Given the description of an element on the screen output the (x, y) to click on. 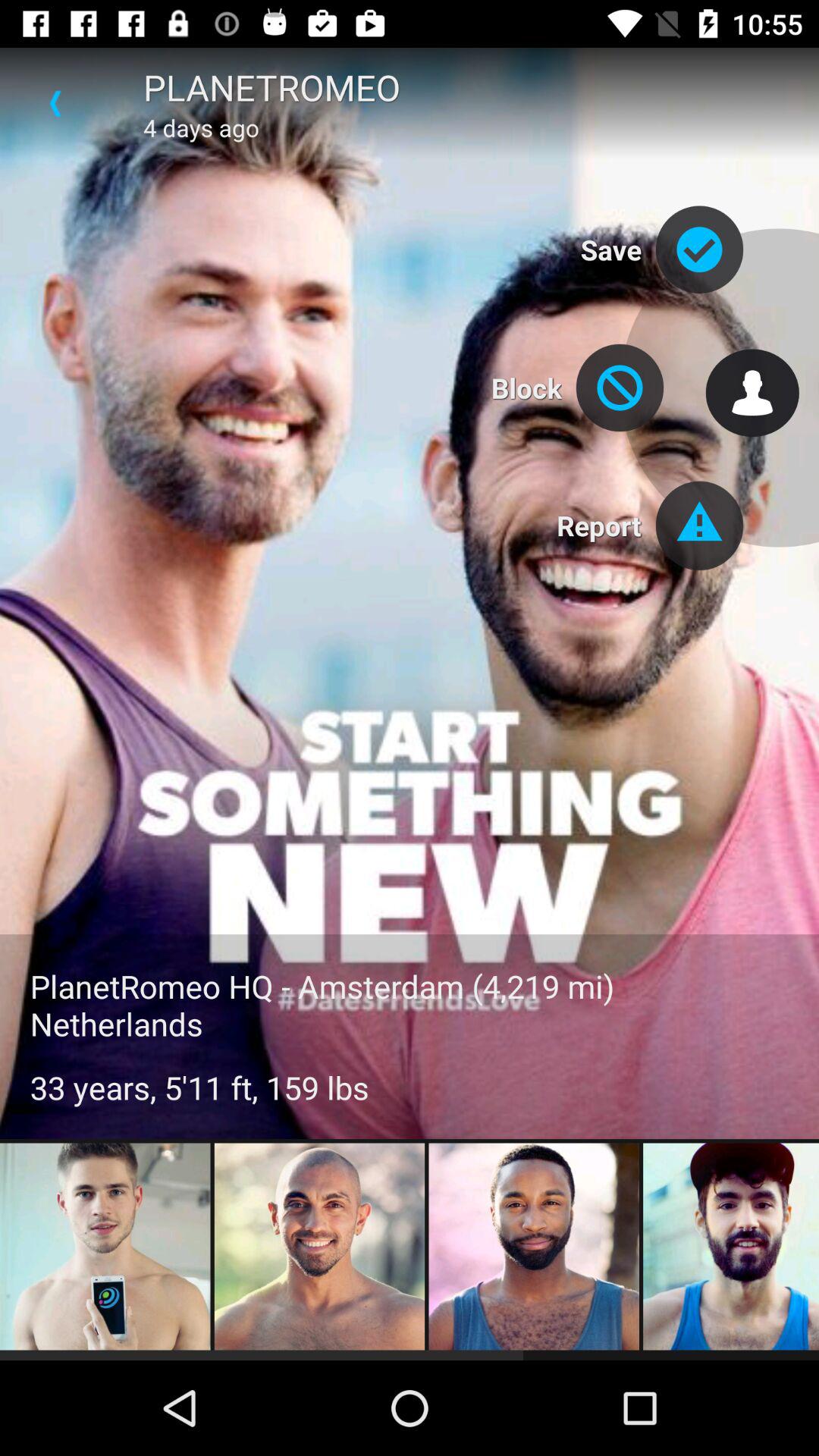
open the icon above planetromeo hq amsterdam icon (55, 103)
